Given the description of an element on the screen output the (x, y) to click on. 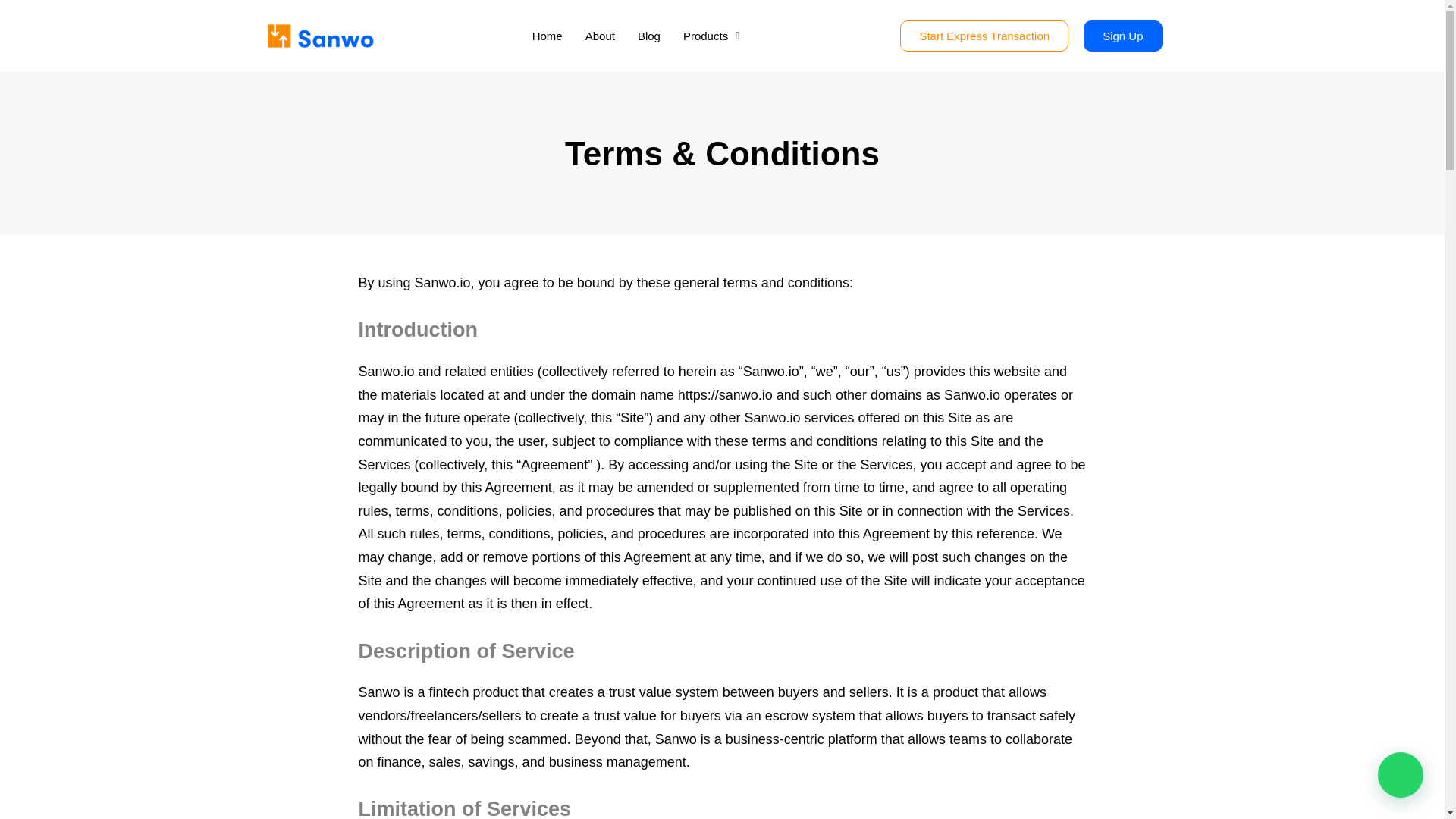
Start Express Transaction (983, 35)
Products (711, 35)
Home (547, 35)
About (599, 35)
Sign Up (1122, 35)
Blog (648, 35)
